Given the description of an element on the screen output the (x, y) to click on. 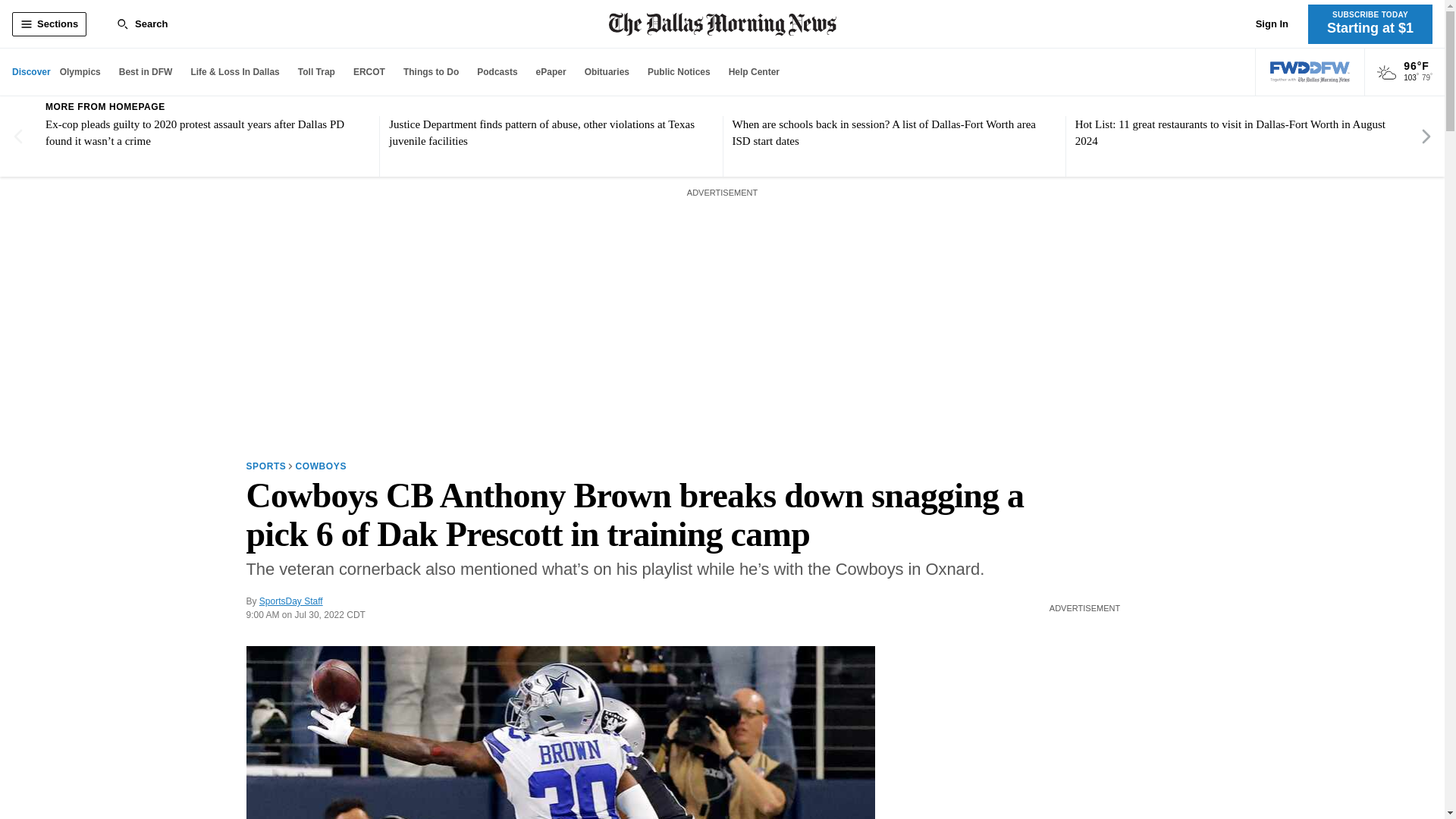
Few clouds (1386, 72)
FWD DFW, Together with The Dallas Morning News (1310, 72)
